Given the description of an element on the screen output the (x, y) to click on. 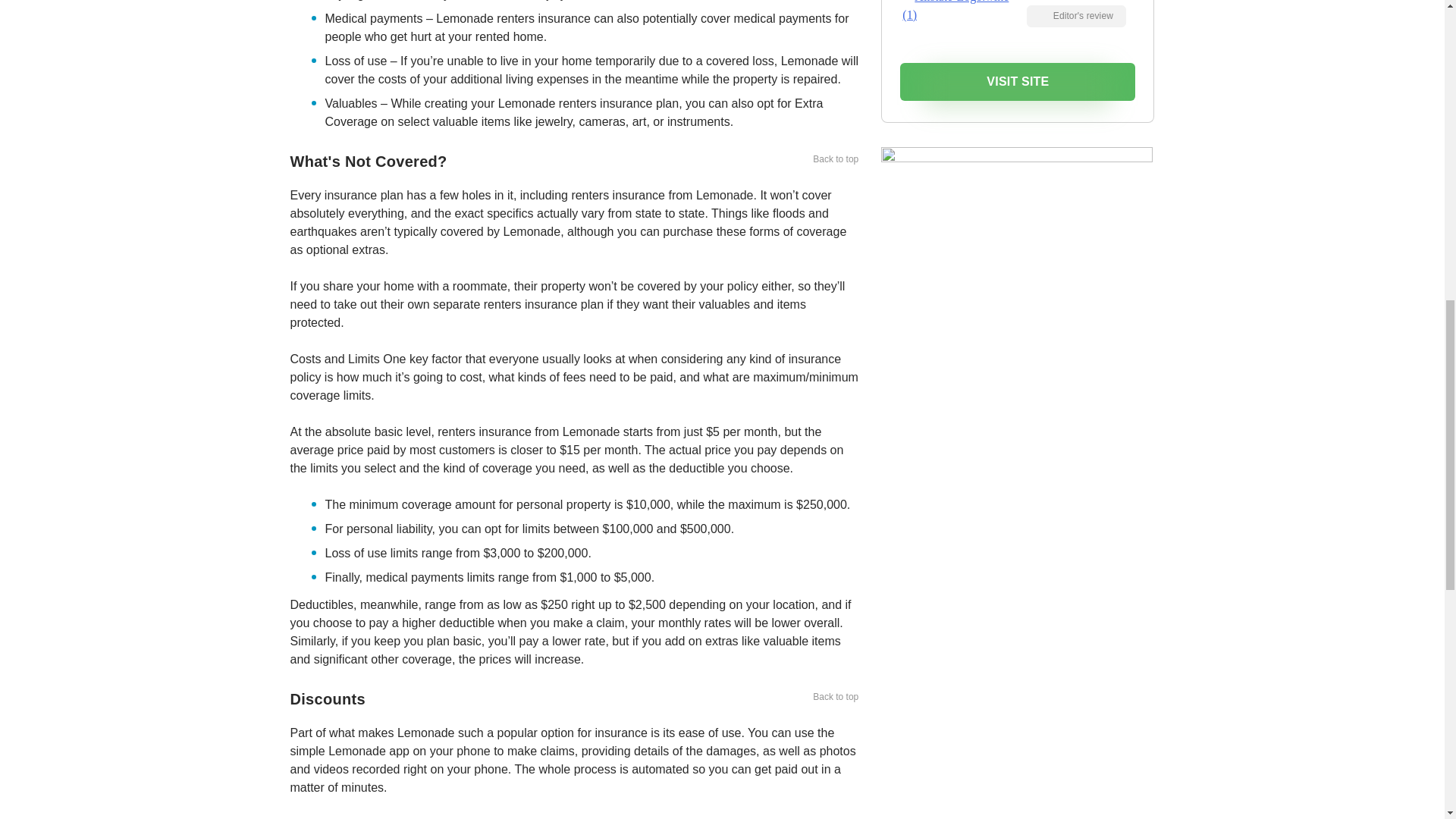
Editor's review (1075, 15)
